Given the description of an element on the screen output the (x, y) to click on. 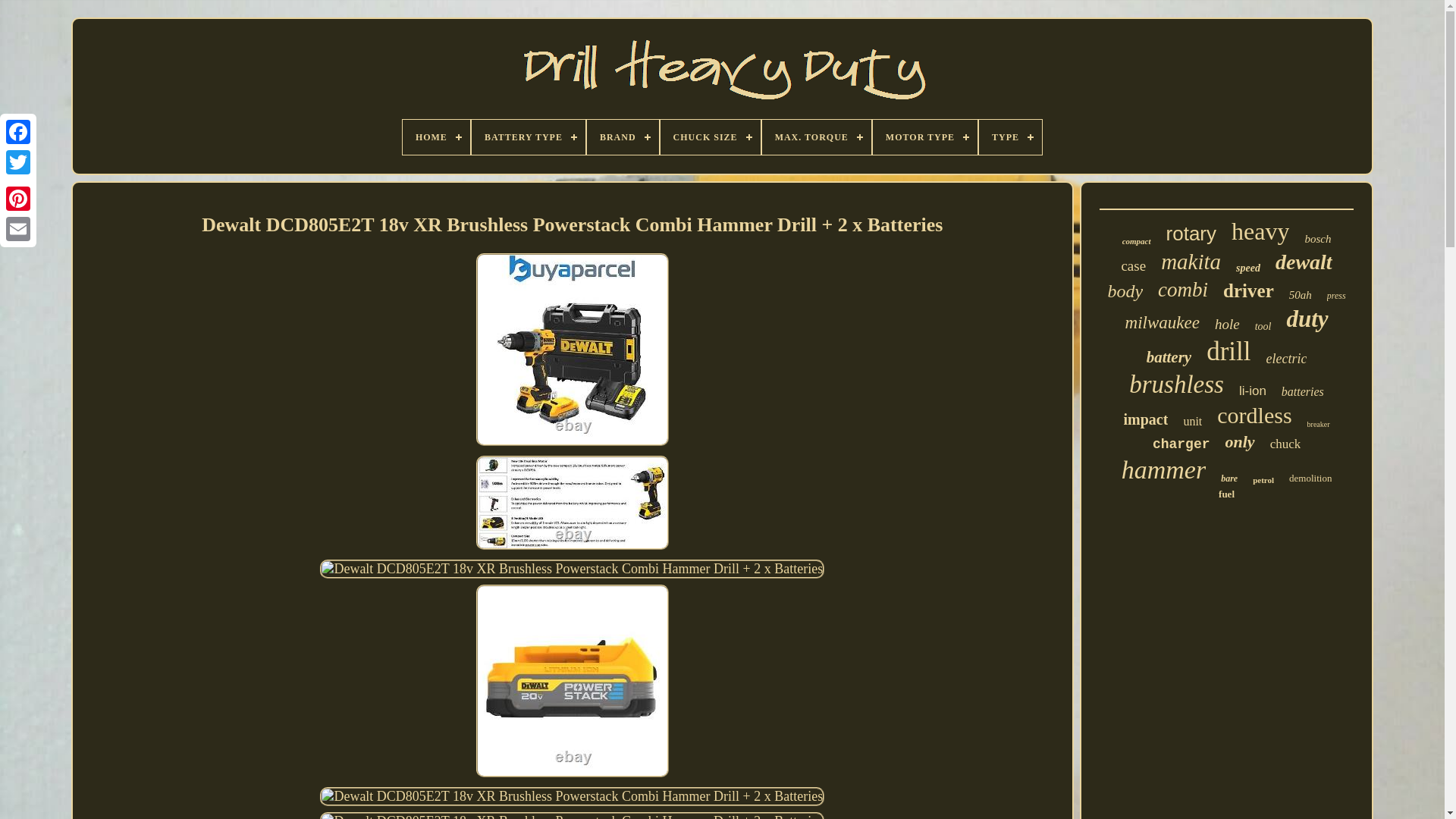
BATTERY TYPE (528, 136)
HOME (436, 136)
CHUCK SIZE (710, 136)
BRAND (622, 136)
